Given the description of an element on the screen output the (x, y) to click on. 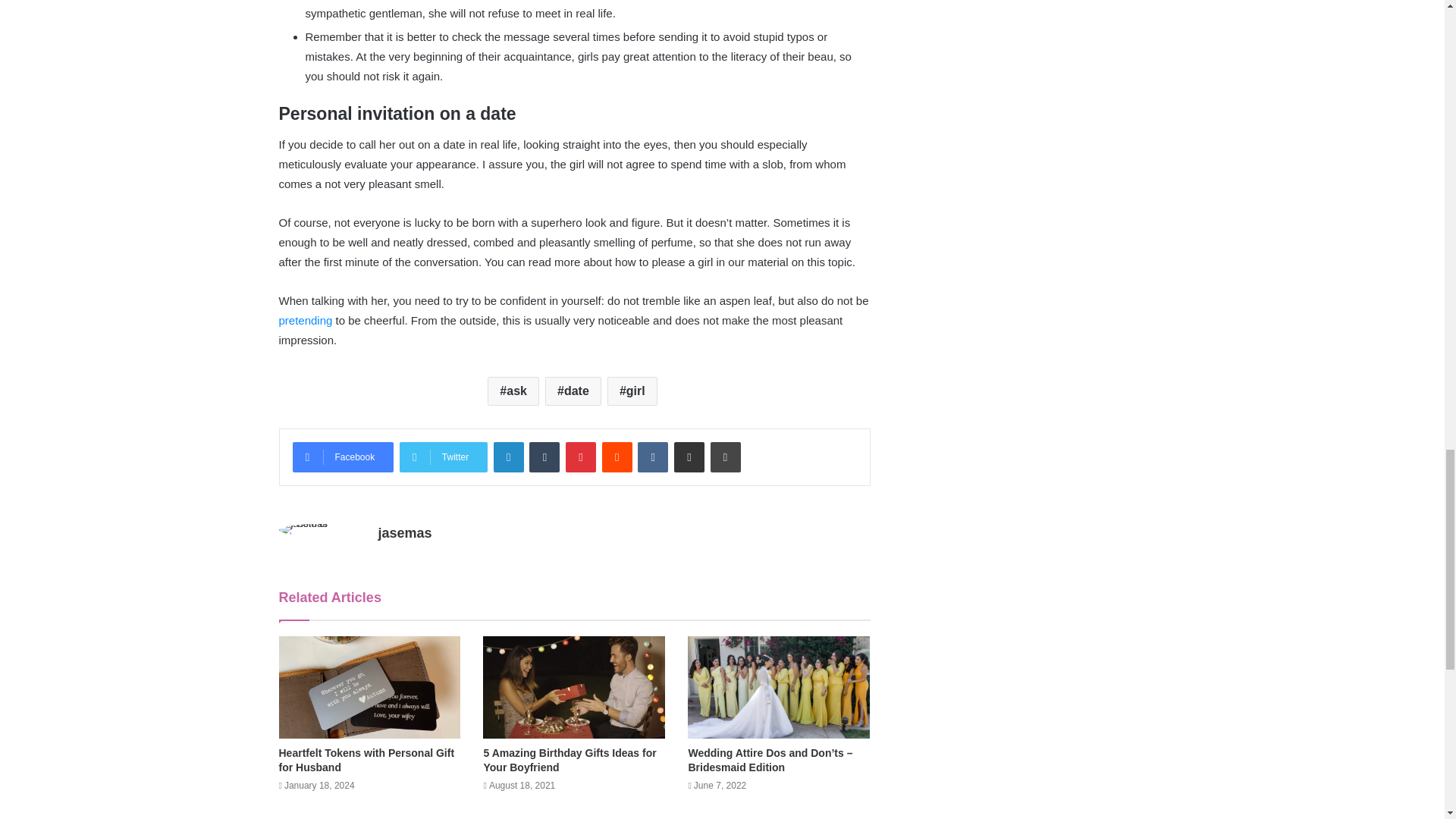
LinkedIn (508, 457)
Pinterest (580, 457)
pretending (306, 319)
girl (632, 390)
Tumblr (544, 457)
Pinterest (580, 457)
LinkedIn (508, 457)
date (572, 390)
Facebook (343, 457)
Print (725, 457)
